Given the description of an element on the screen output the (x, y) to click on. 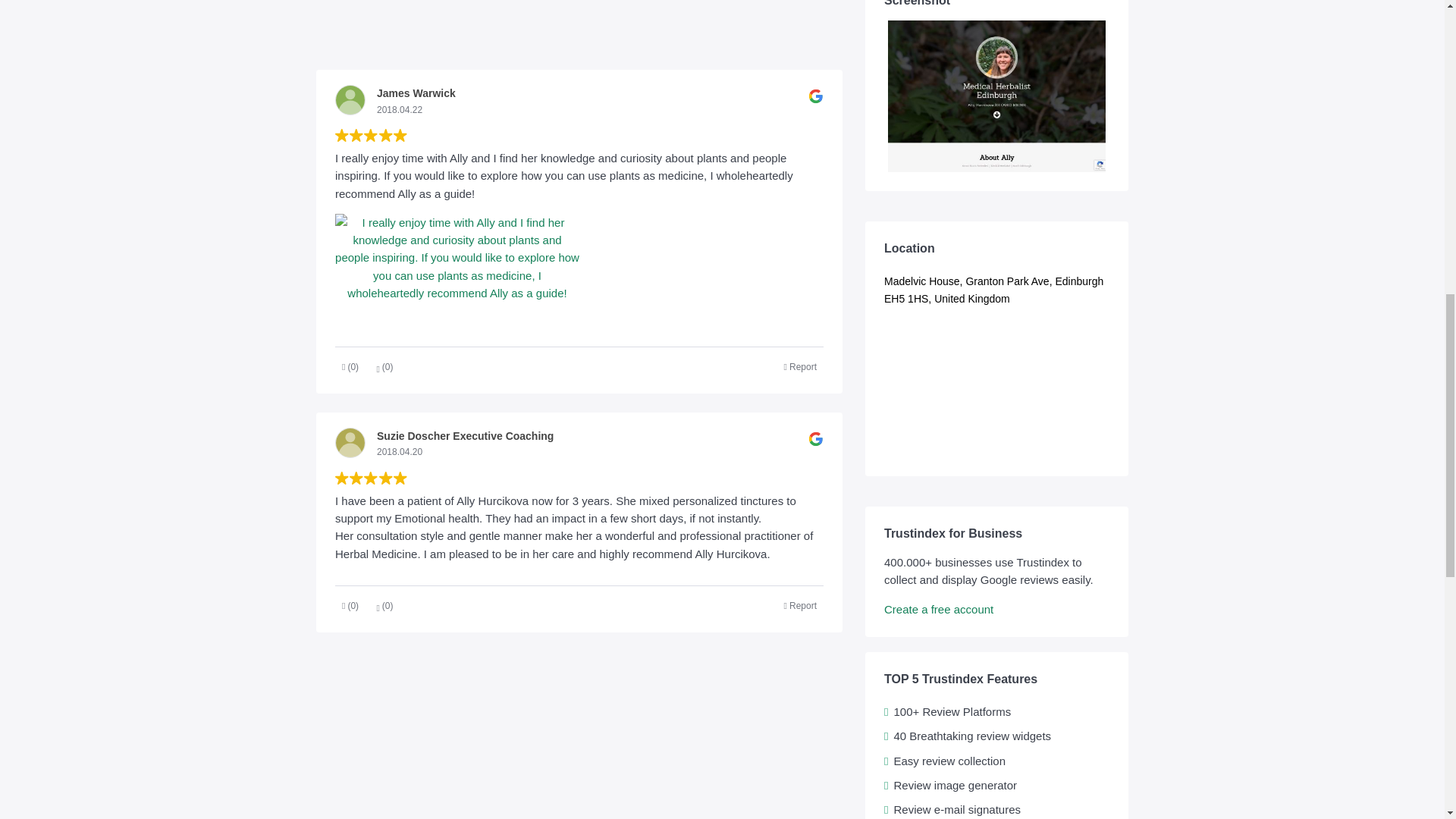
Report (800, 606)
Advertisement (579, 29)
Create a free account (937, 608)
Report (800, 367)
